Given the description of an element on the screen output the (x, y) to click on. 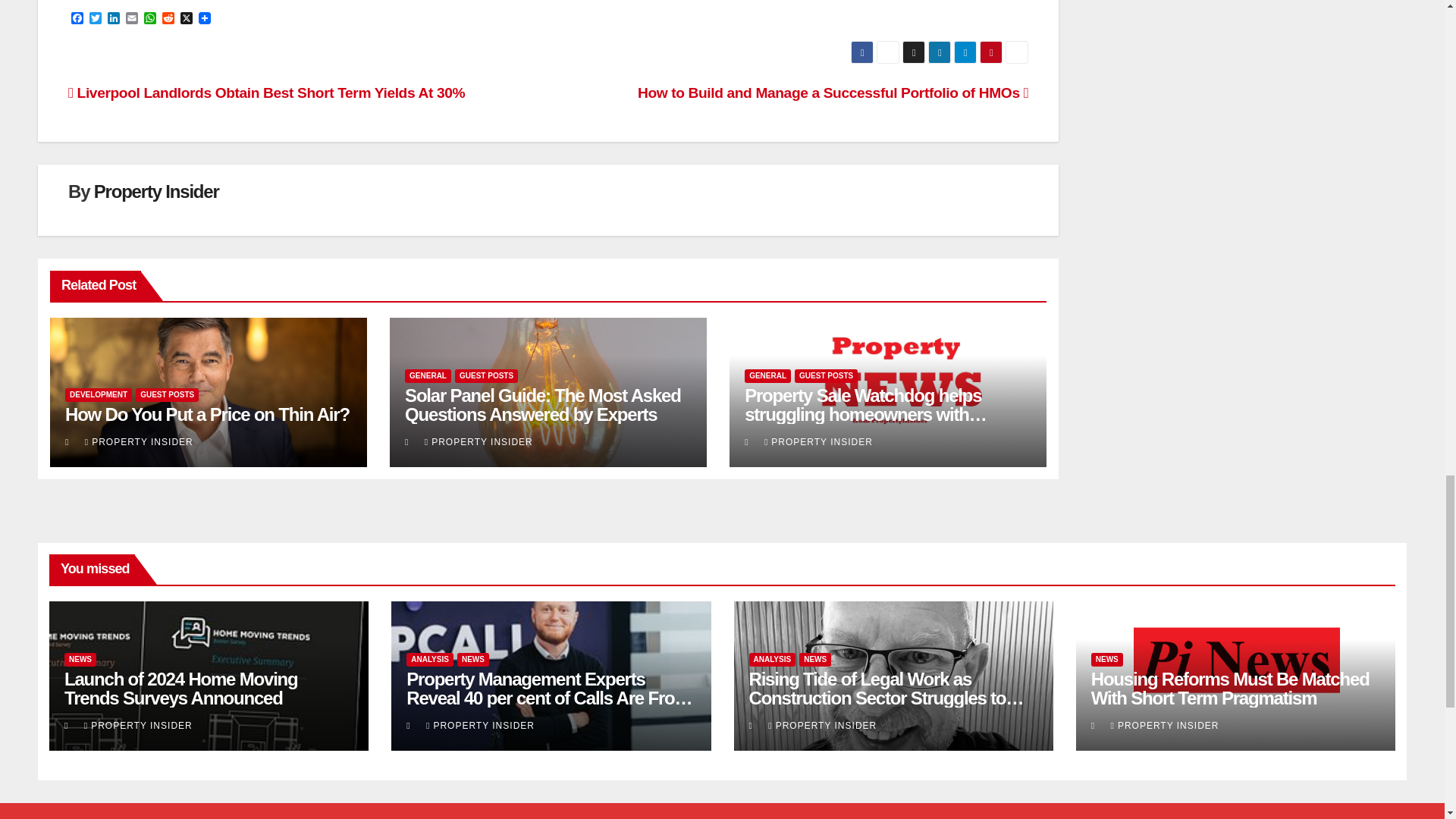
X (186, 19)
X (186, 19)
Email (131, 19)
Facebook (76, 19)
How to Build and Manage a Successful Portfolio of HMOs (832, 92)
Reddit (167, 19)
Reddit (167, 19)
LinkedIn (113, 19)
Facebook (76, 19)
WhatsApp (149, 19)
